Given the description of an element on the screen output the (x, y) to click on. 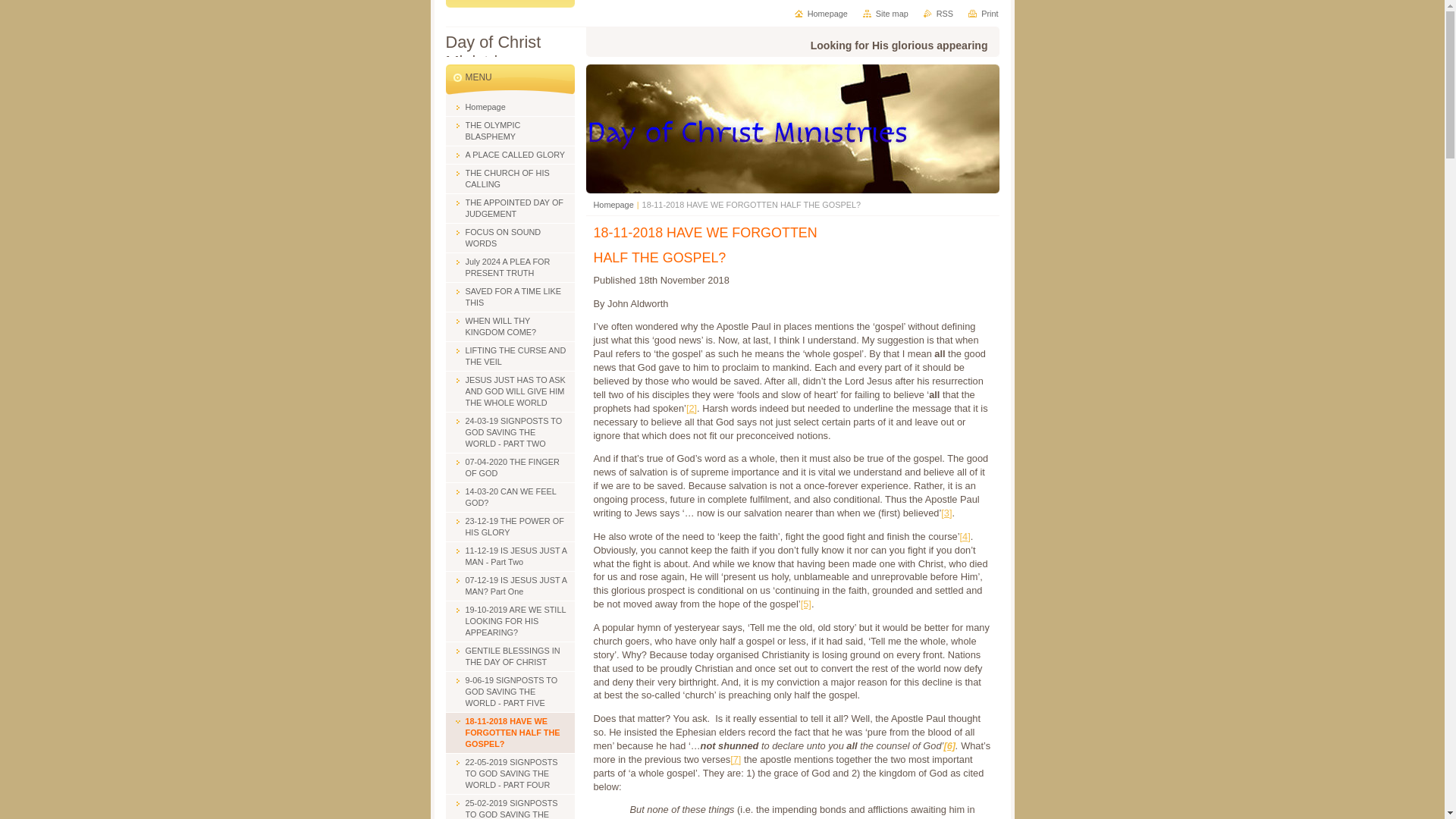
Day of Christ Ministries (510, 52)
Go to Homepage. (510, 52)
Homepage (612, 204)
